Given the description of an element on the screen output the (x, y) to click on. 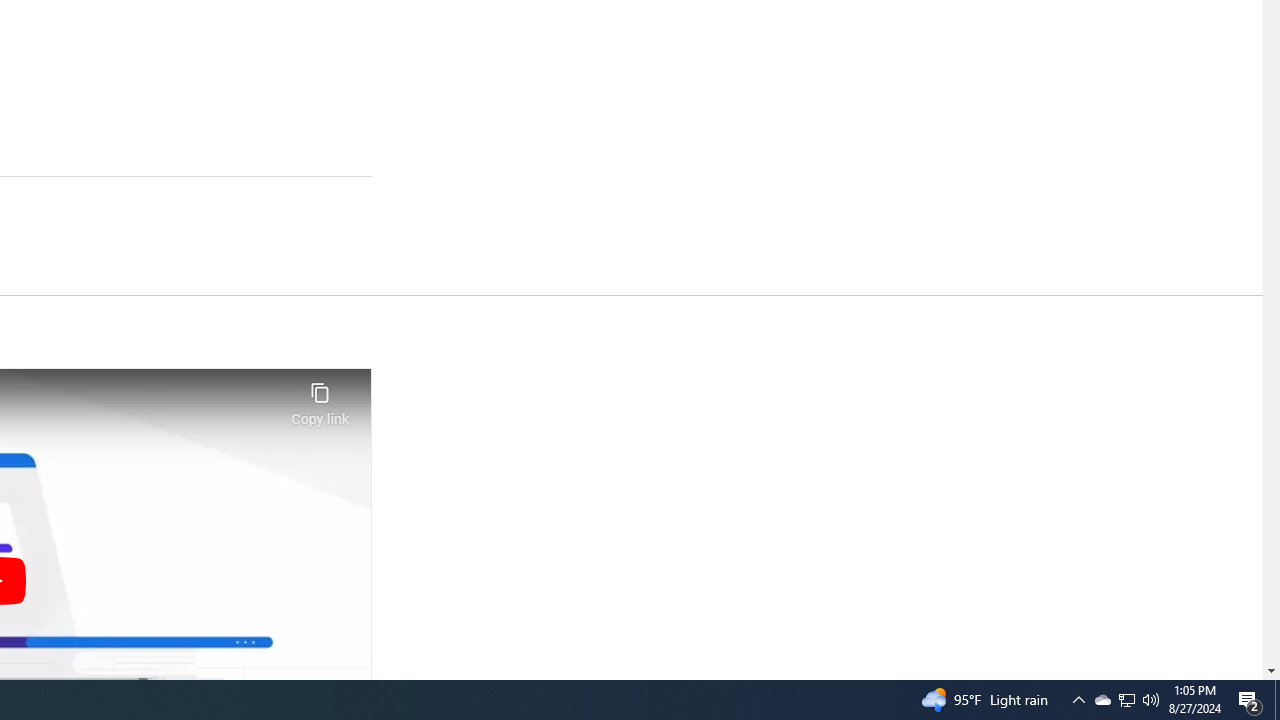
Copy link (319, 398)
